Given the description of an element on the screen output the (x, y) to click on. 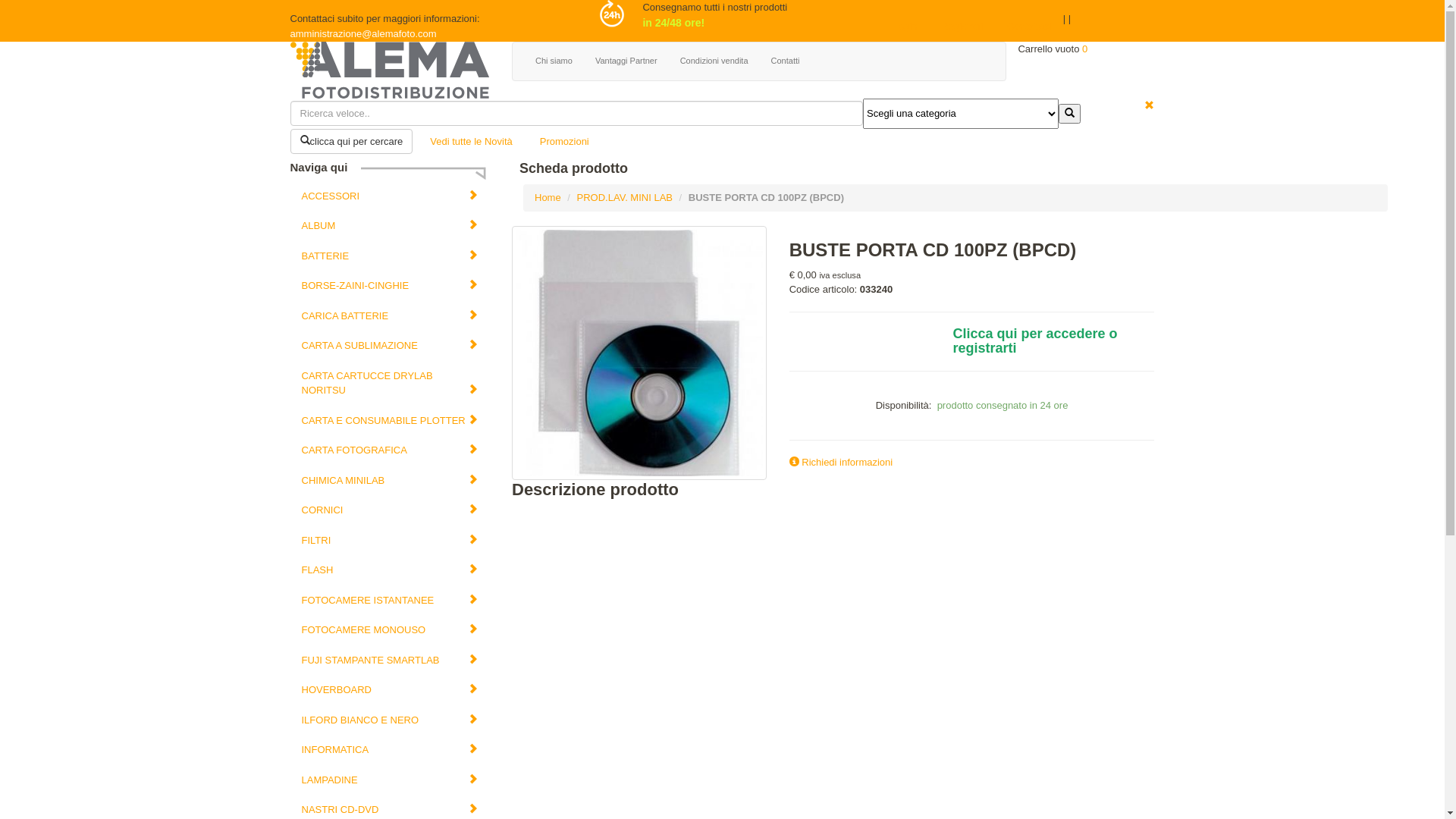
INFORMATICA Element type: text (389, 749)
LAMPADINE Element type: text (389, 780)
FOTOCAMERE MONOUSO Element type: text (389, 630)
Home Element type: text (547, 197)
amministrazione@alemafoto.com Element type: text (362, 32)
Login Element type: text (904, 26)
0 Element type: text (1084, 47)
CARTA FOTOGRAFICA Element type: text (389, 450)
CARICA BATTERIE Element type: text (389, 316)
Vantaggi Partner Element type: text (625, 61)
BORSE-ZAINI-CINGHIE Element type: text (389, 285)
ILFORD BIANCO E NERO Element type: text (389, 720)
Promozioni Element type: text (564, 141)
CARTA A SUBLIMAZIONE Element type: text (389, 345)
PROD.LAV. MINI LAB Element type: text (624, 197)
Richiedi informazioni Element type: text (841, 461)
FOTOCAMERE ISTANTANEE Element type: text (389, 600)
clicca qui per cercare Element type: text (350, 141)
Clicca qui per accedere o registrarti Element type: text (1047, 341)
CHIMICA MINILAB Element type: text (389, 480)
ACCESSORI Element type: text (389, 196)
FILTRI Element type: text (389, 540)
CORNICI Element type: text (389, 510)
Condizioni vendita Element type: text (713, 61)
HOVERBOARD Element type: text (389, 689)
Contatti Element type: text (785, 61)
FLASH Element type: text (389, 570)
Registrati Element type: text (961, 26)
ALBUM Element type: text (389, 225)
CARTA CARTUCCE DRYLAB NORITSU Element type: text (389, 382)
BATTERIE Element type: text (389, 256)
Contattaci Element type: text (1029, 26)
FUJI STAMPANTE SMARTLAB Element type: text (389, 660)
Chi siamo Element type: text (553, 61)
CARTA E CONSUMABILE PLOTTER Element type: text (389, 420)
BUSTE PORTA CD 100PZ  (BPCD) Element type: hover (638, 351)
